Given the description of an element on the screen output the (x, y) to click on. 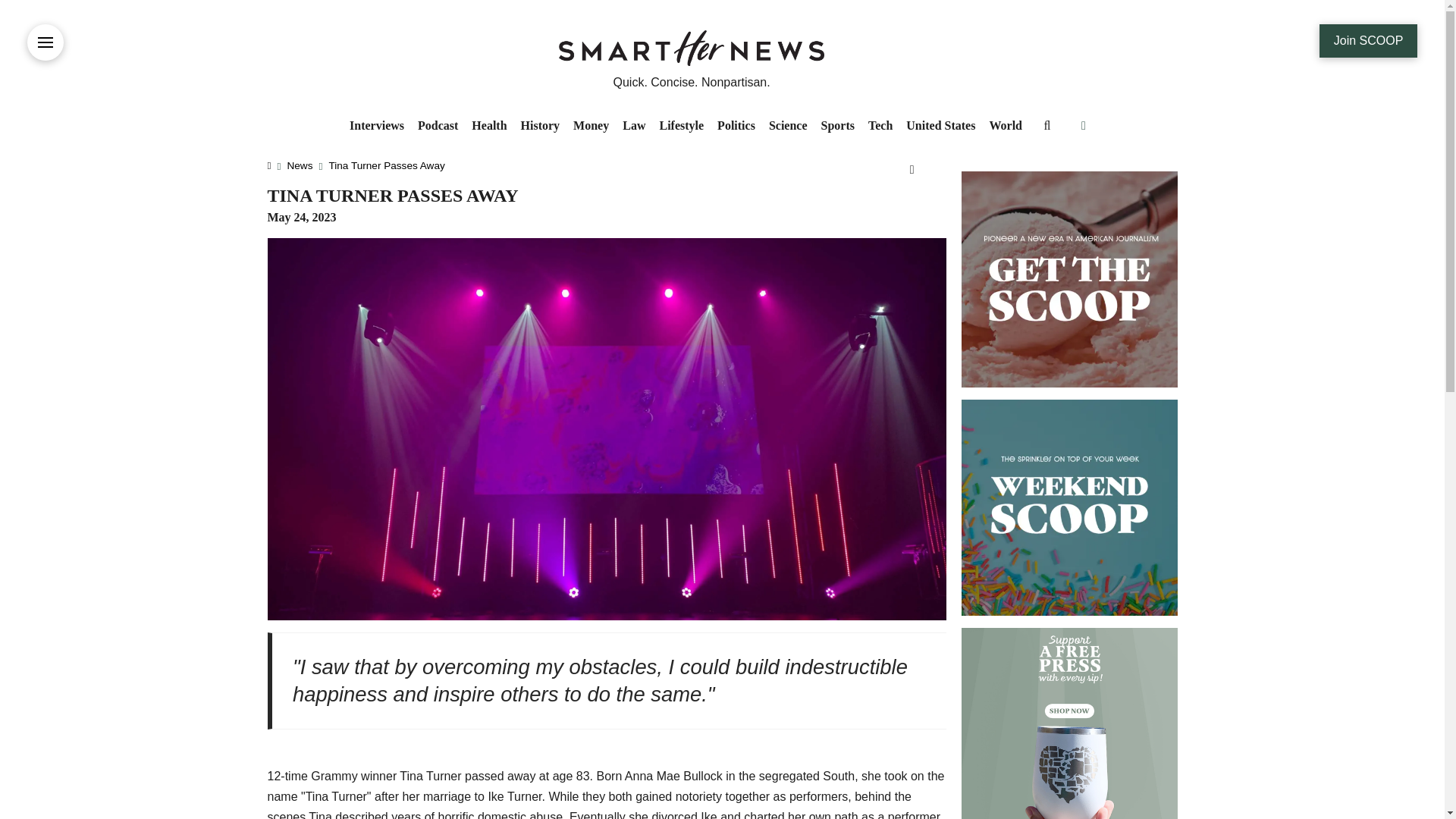
Tina Turner Passes Away (386, 165)
United States (940, 125)
Sports (837, 125)
Health (488, 125)
Lifestyle (681, 125)
Join SCOOP (1367, 40)
World (1005, 125)
History (540, 125)
Science (787, 125)
Money (590, 125)
